Given the description of an element on the screen output the (x, y) to click on. 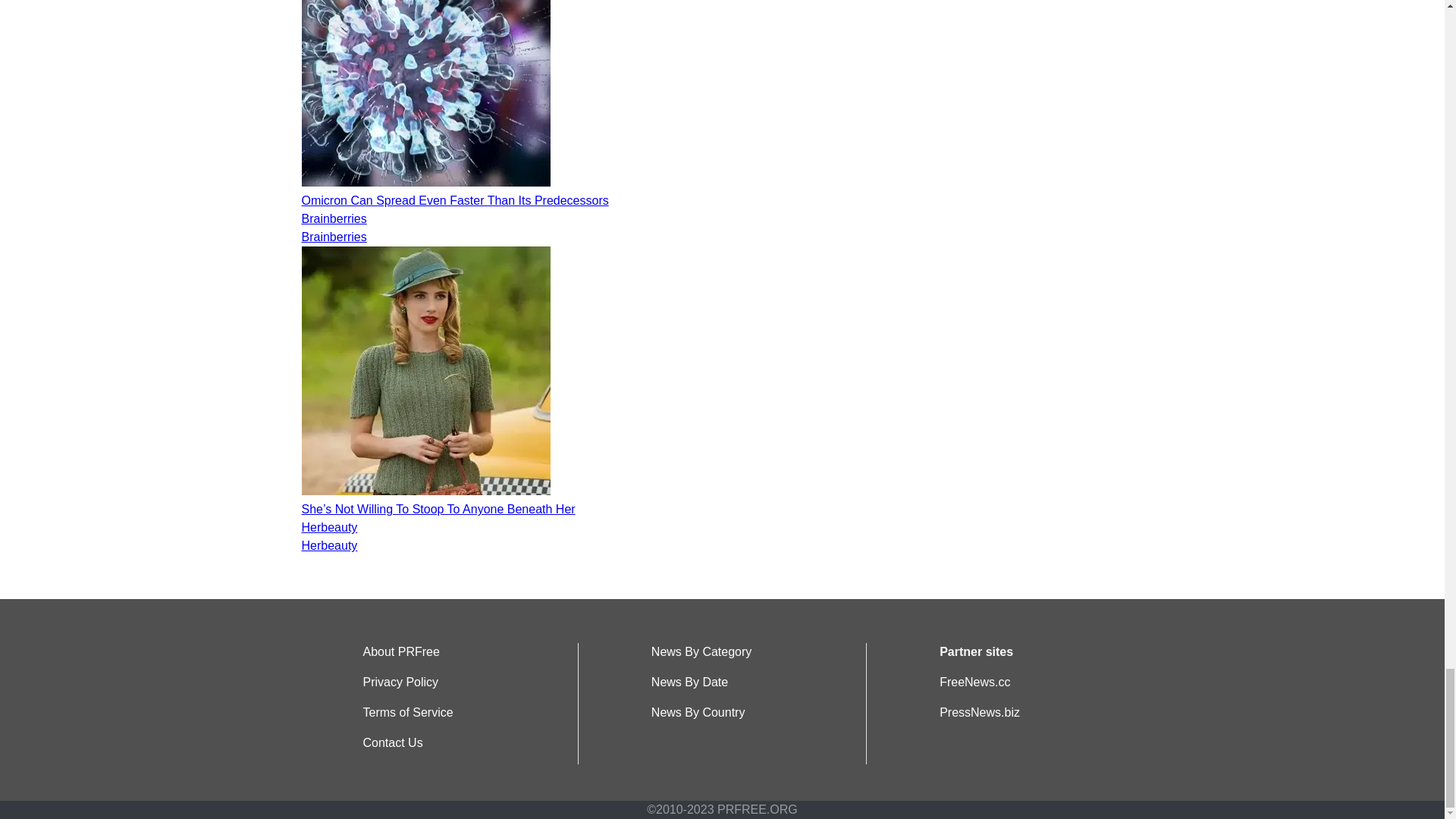
Contact Us (392, 742)
Privacy Policy (400, 681)
About PRFree (400, 651)
Terms of Service (407, 712)
